Given the description of an element on the screen output the (x, y) to click on. 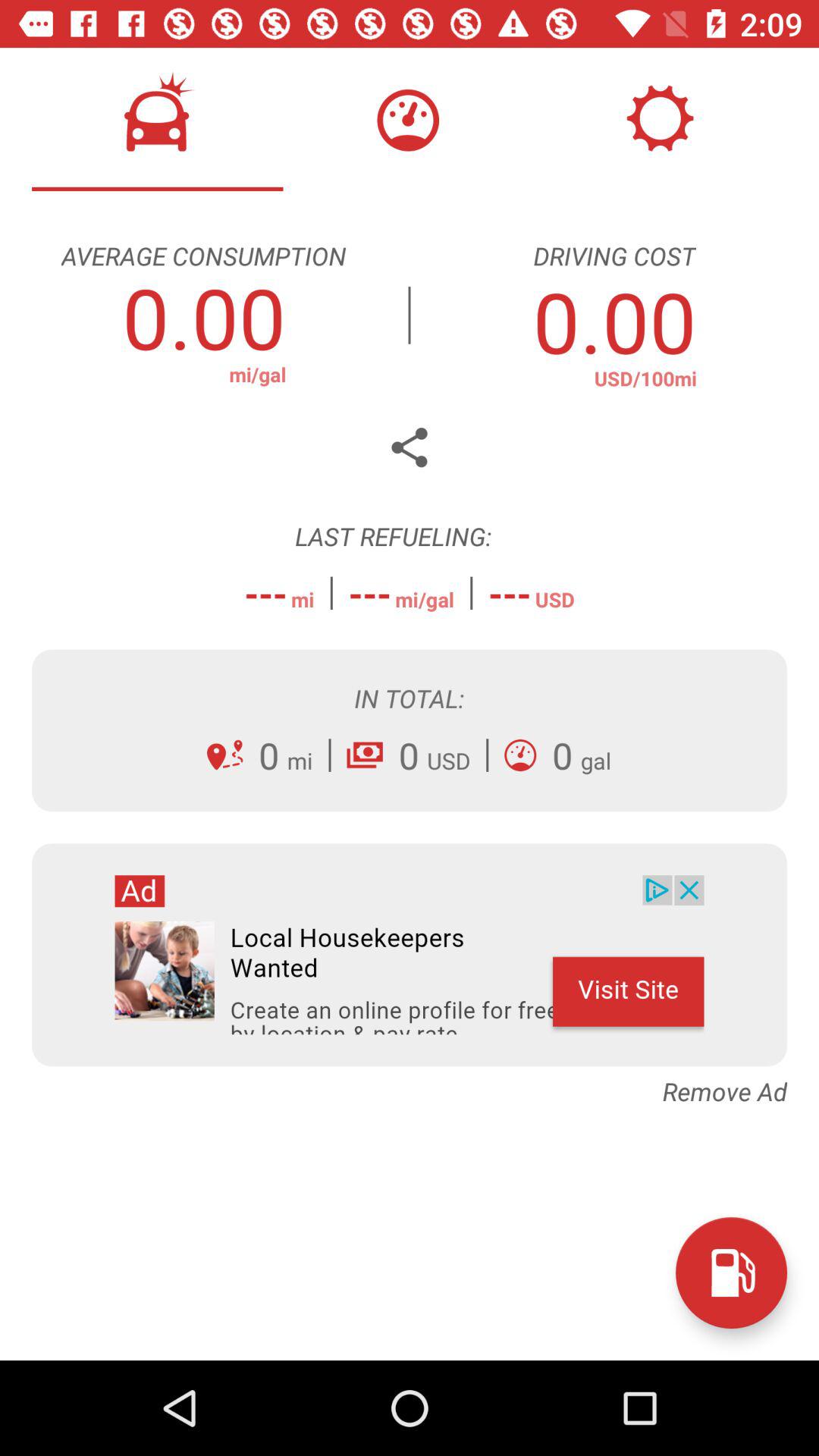
advertisement (409, 954)
